Given the description of an element on the screen output the (x, y) to click on. 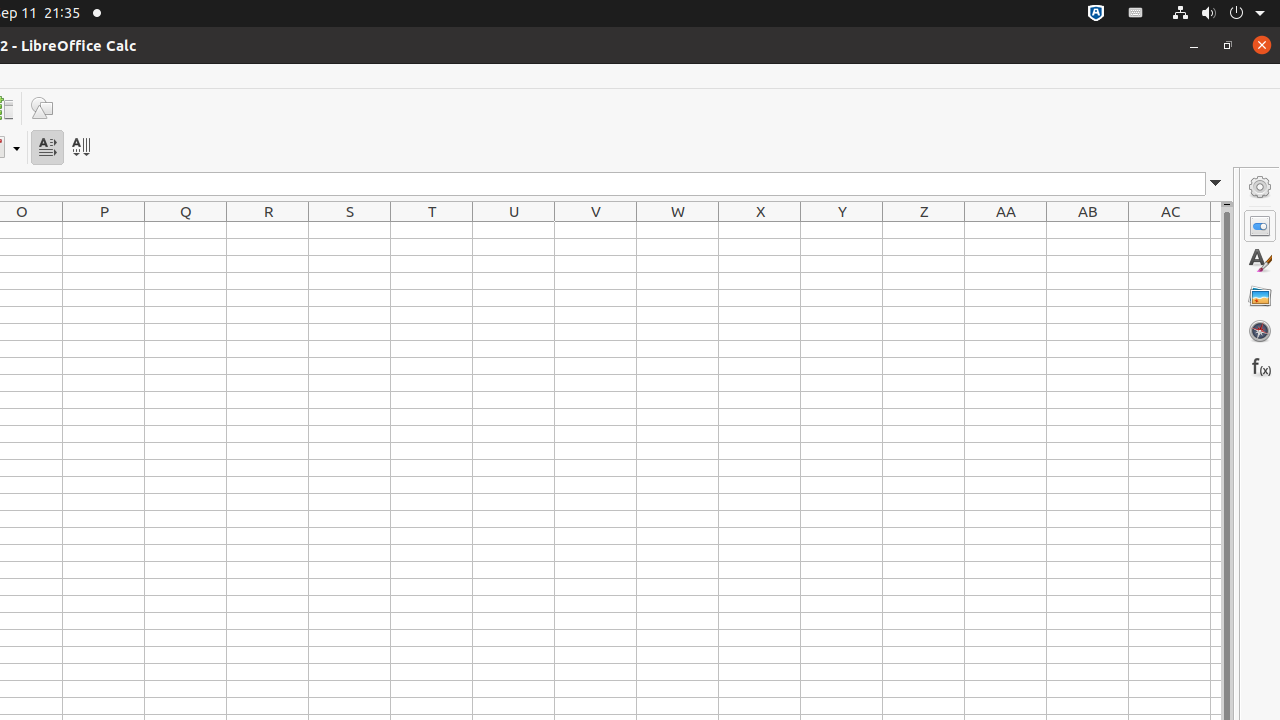
W1 Element type: table-cell (678, 230)
Properties Element type: radio-button (1260, 226)
Text direction from top to bottom Element type: toggle-button (80, 147)
T1 Element type: table-cell (432, 230)
